Given the description of an element on the screen output the (x, y) to click on. 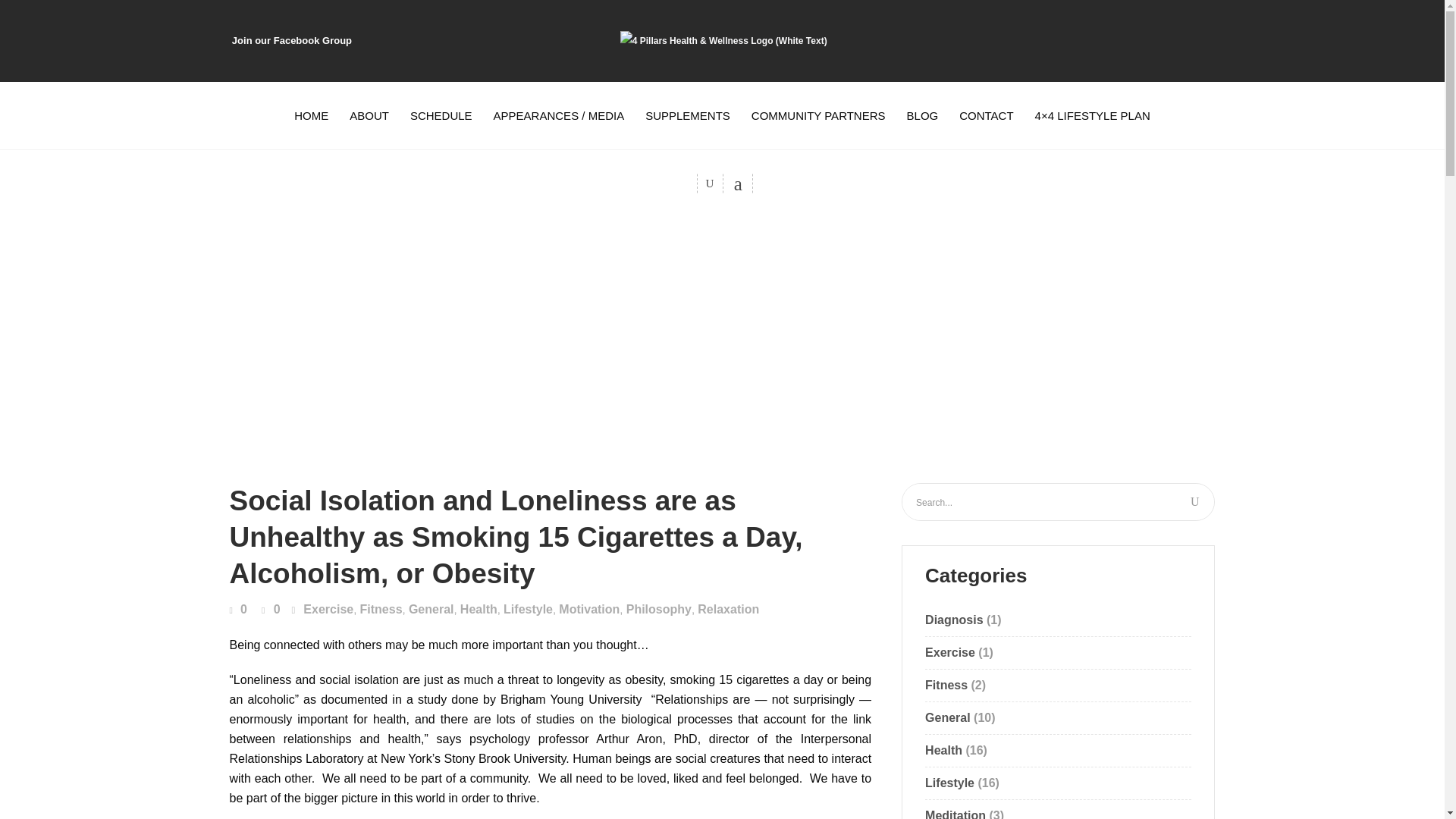
Join our Facebook Group (291, 40)
CONTACT (986, 115)
SCHEDULE (440, 115)
Like this (237, 610)
U (1194, 502)
Search (679, 240)
COMMUNITY PARTNERS (818, 115)
ABOUT (368, 115)
SUPPLEMENTS (687, 115)
